Given the description of an element on the screen output the (x, y) to click on. 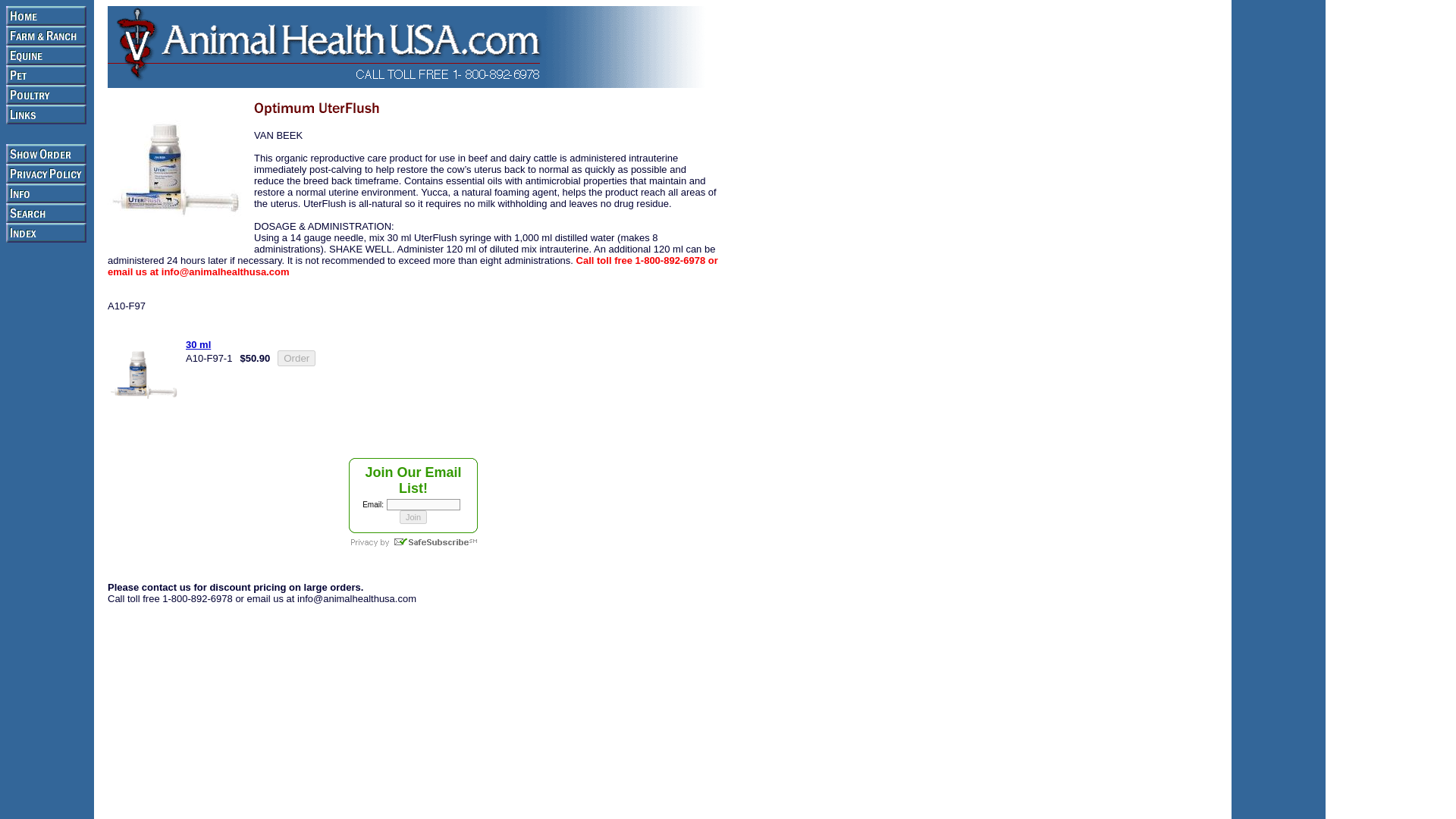
Order (296, 358)
Order (296, 358)
Join (412, 517)
30 ml (198, 344)
Join (412, 517)
